Given the description of an element on the screen output the (x, y) to click on. 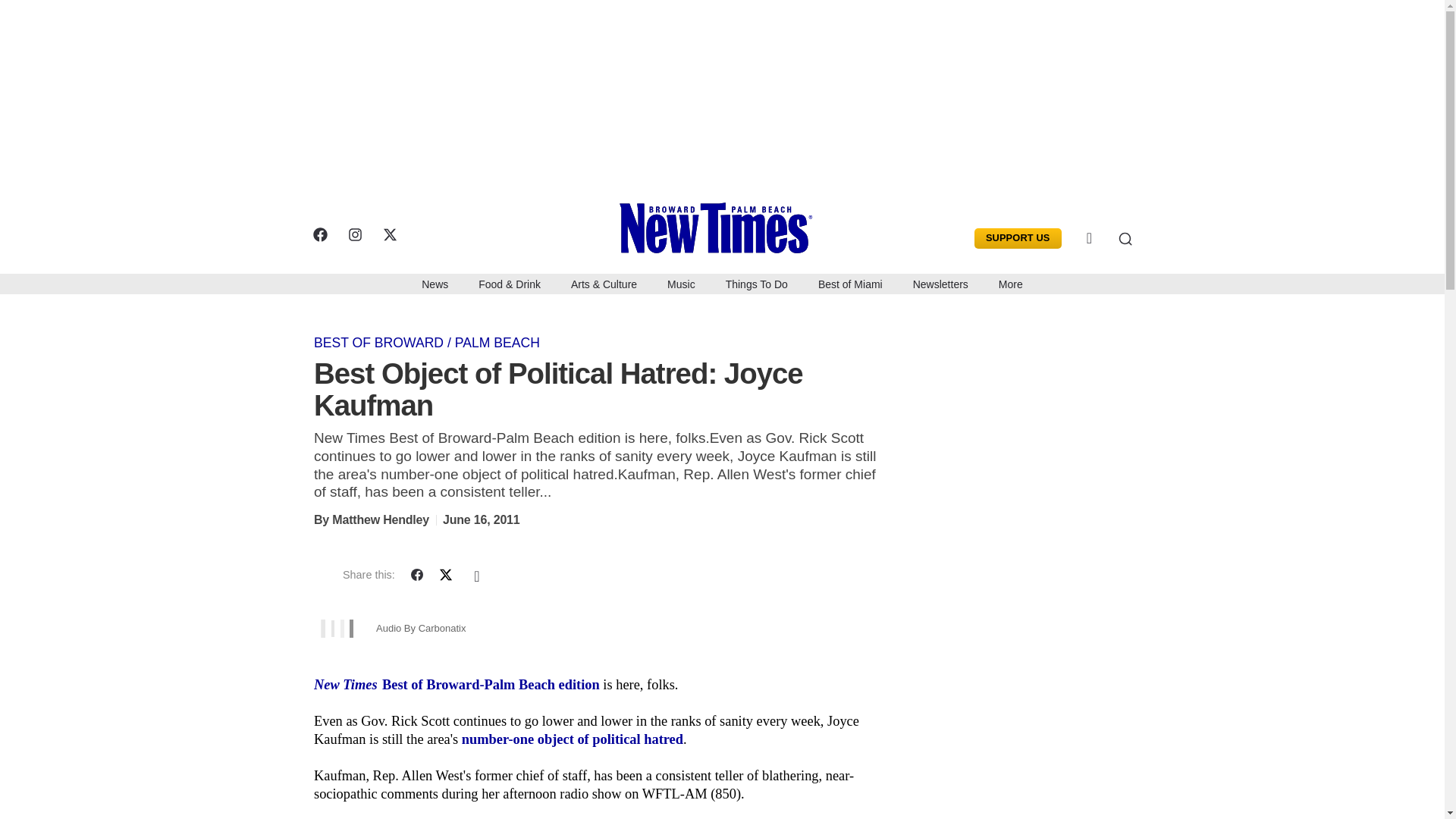
facebook (319, 234)
twitter (388, 234)
New Times Broward-Palm Beach (731, 226)
SUPPORT US (1017, 238)
instagram (354, 234)
Search (1113, 237)
News (434, 283)
